Given the description of an element on the screen output the (x, y) to click on. 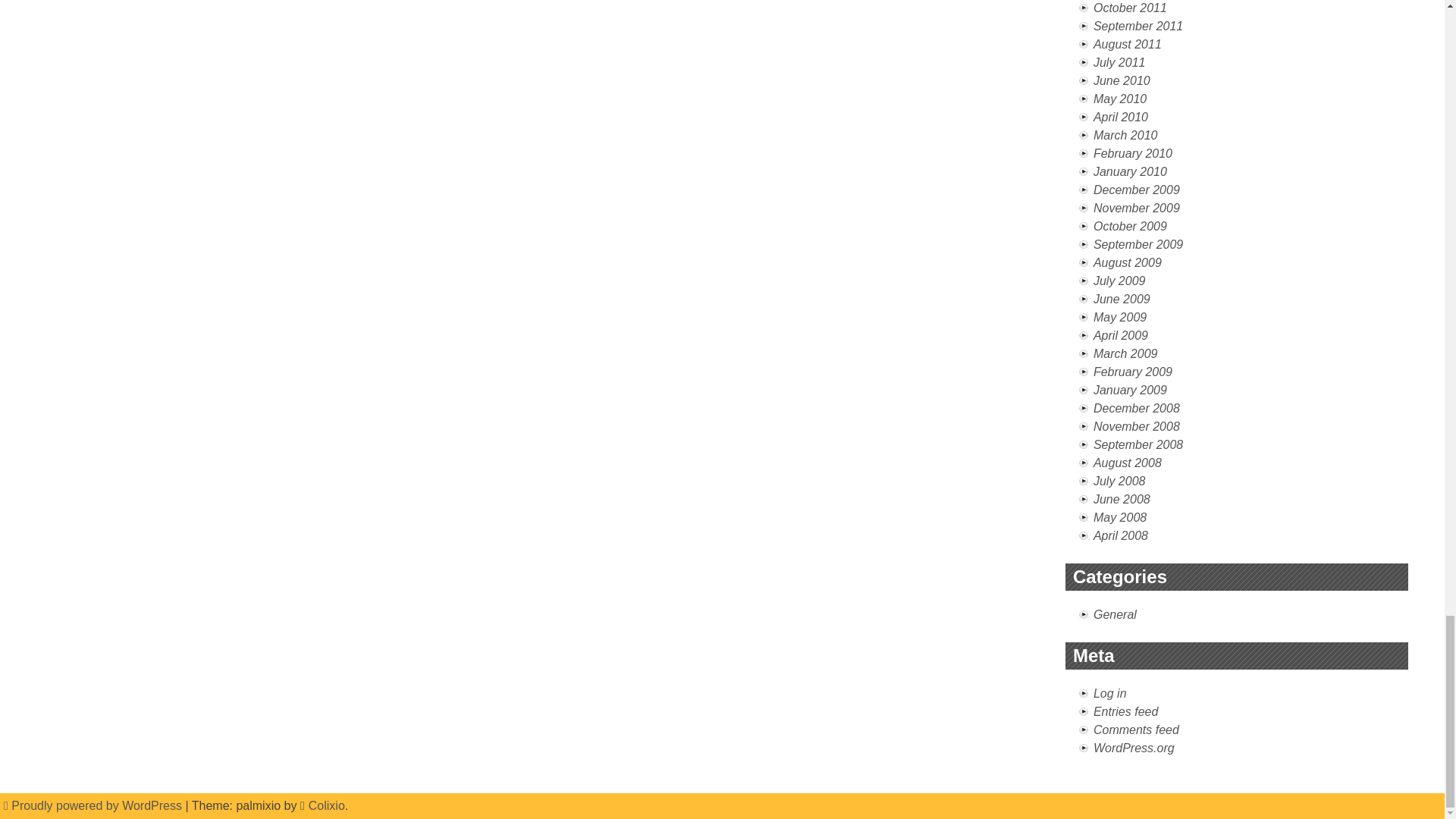
Colixio (326, 805)
